Given the description of an element on the screen output the (x, y) to click on. 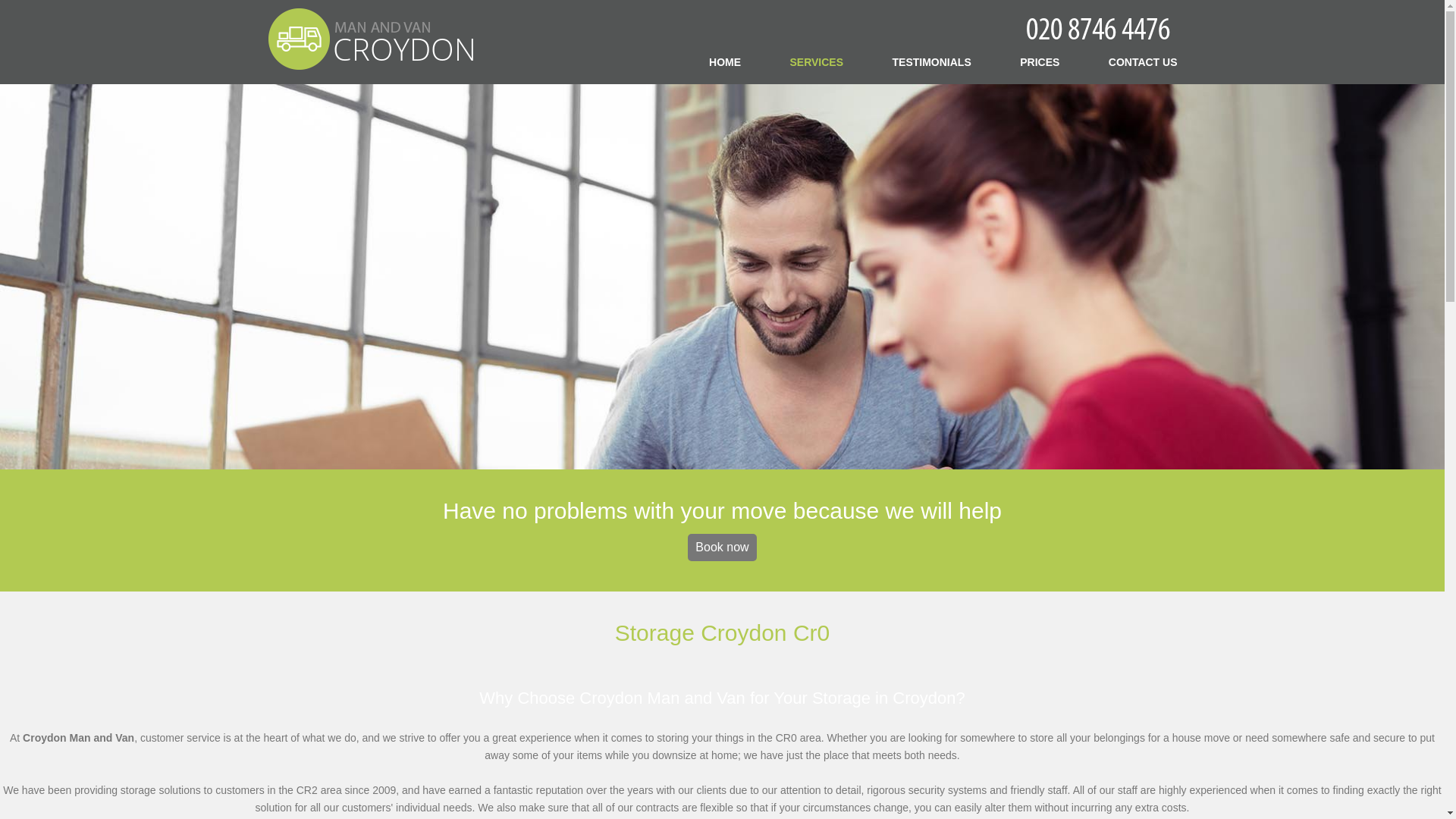
CONTACT US (1142, 61)
PRICES (1039, 61)
HOME (725, 61)
Call Now! (1100, 27)
TESTIMONIALS (931, 61)
Book now (721, 547)
SERVICES (817, 61)
